Given the description of an element on the screen output the (x, y) to click on. 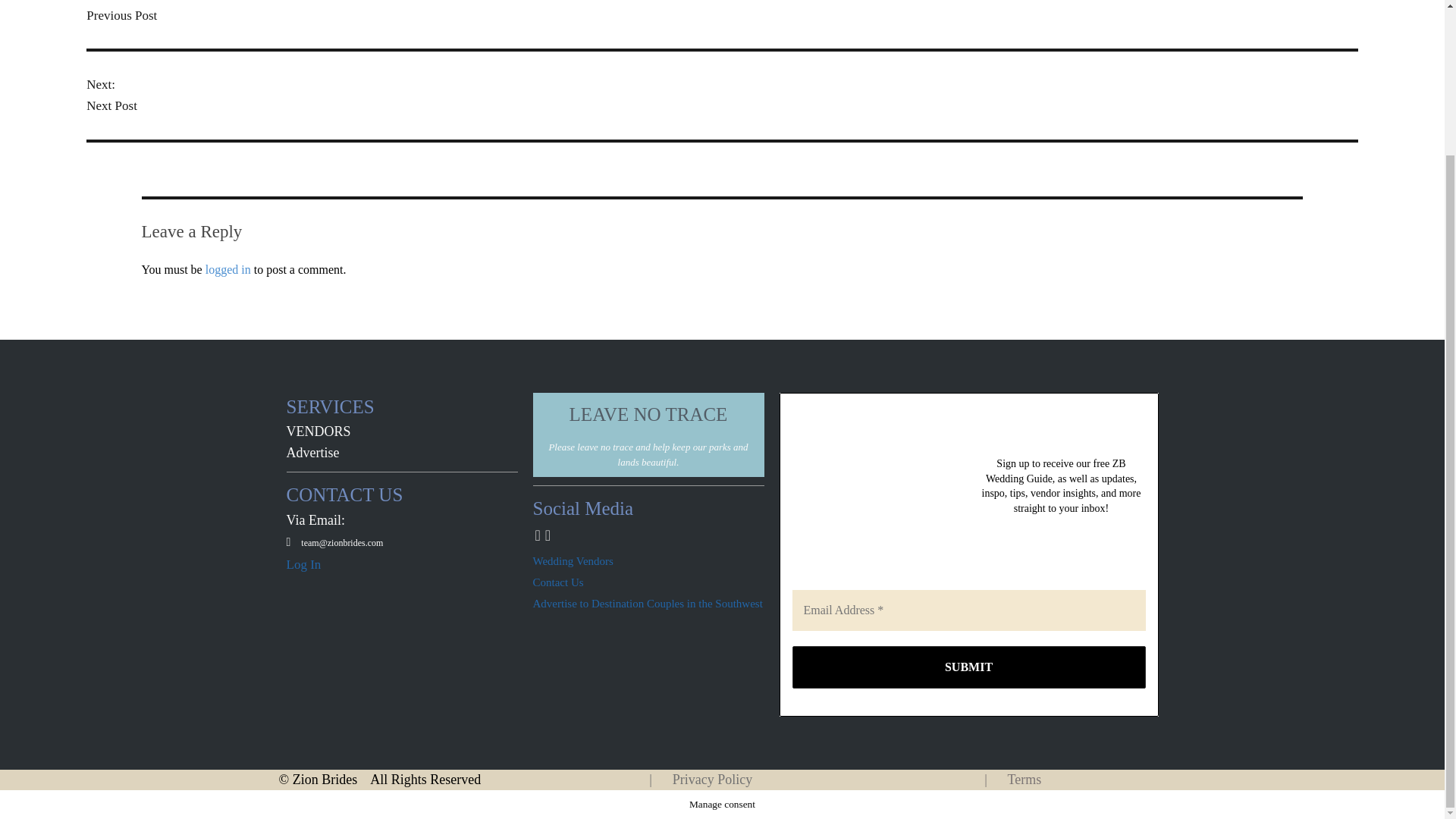
SUBMIT (968, 667)
Email Address (968, 609)
